Given the description of an element on the screen output the (x, y) to click on. 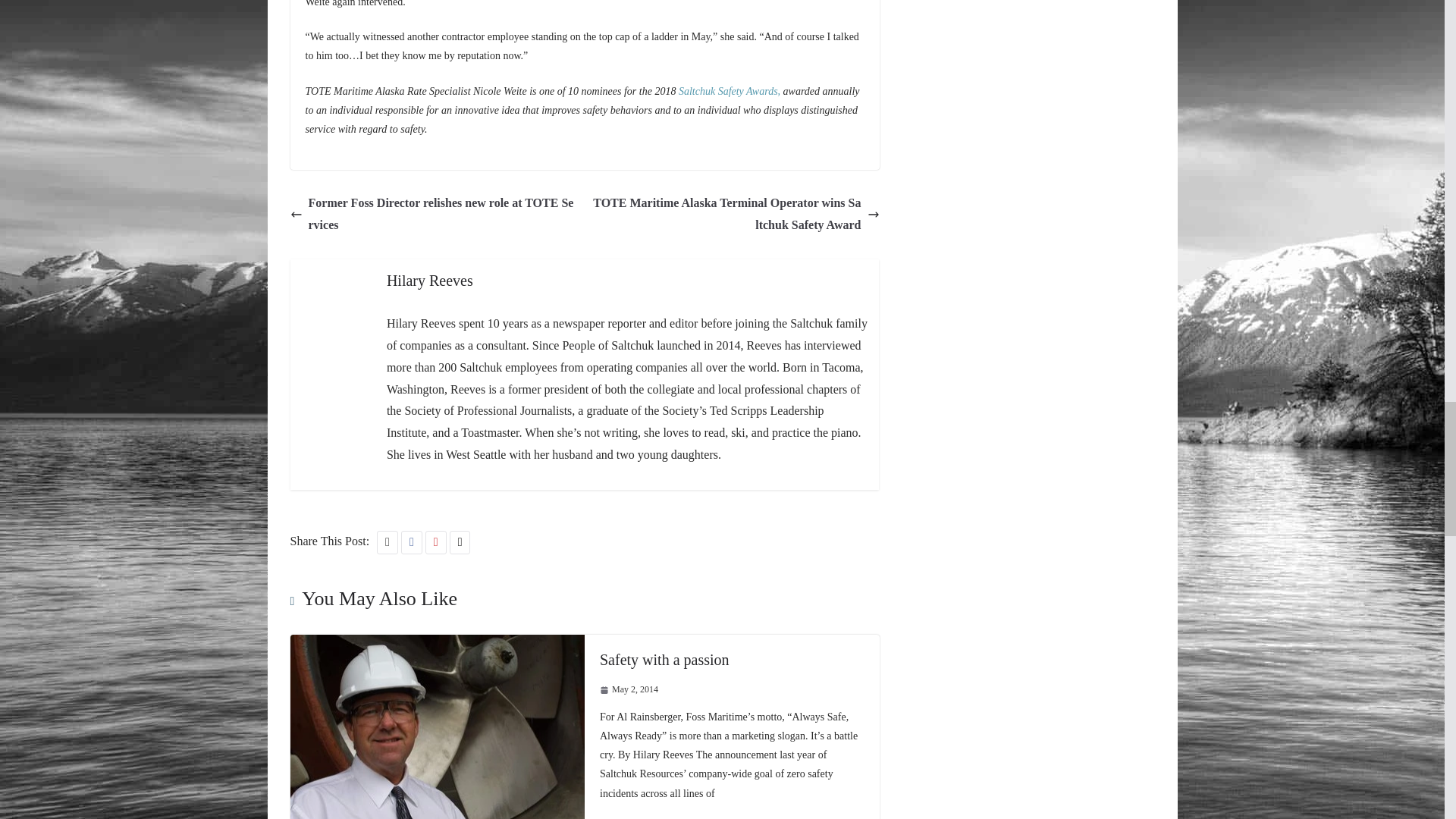
May 2, 2014 (628, 689)
Safety with a passion (664, 659)
Safety with a passion (437, 644)
Safety with a passion (664, 659)
Former Foss Director relishes new role at TOTE Services (432, 214)
3:57 pm (628, 689)
Saltchuk Safety Awards, (729, 90)
